Given the description of an element on the screen output the (x, y) to click on. 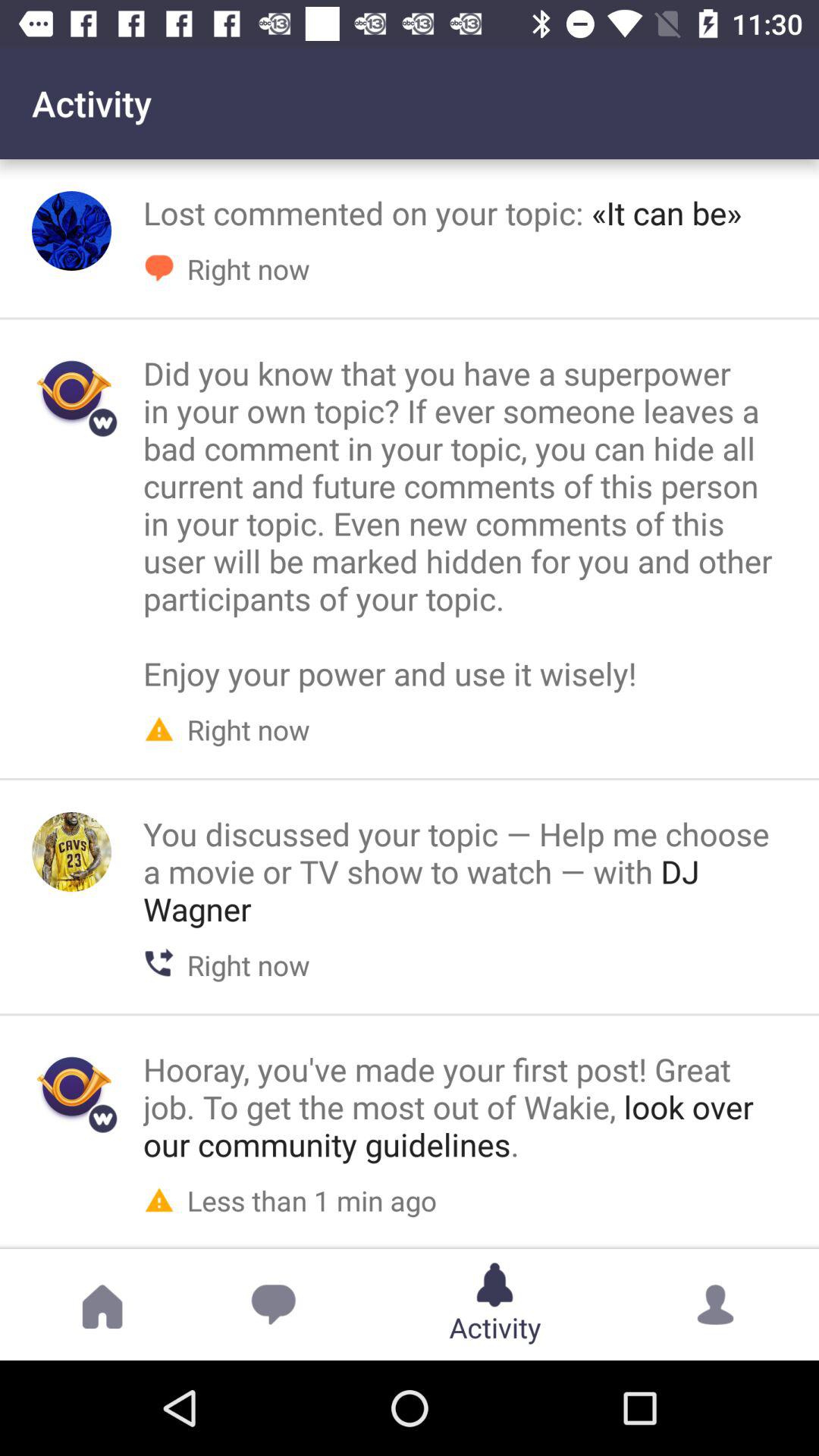
click on image in the second row (71, 391)
click on the home button (102, 1304)
select the icon which is at the left side to the text right now (159, 726)
select the activity button (494, 1284)
